Given the description of an element on the screen output the (x, y) to click on. 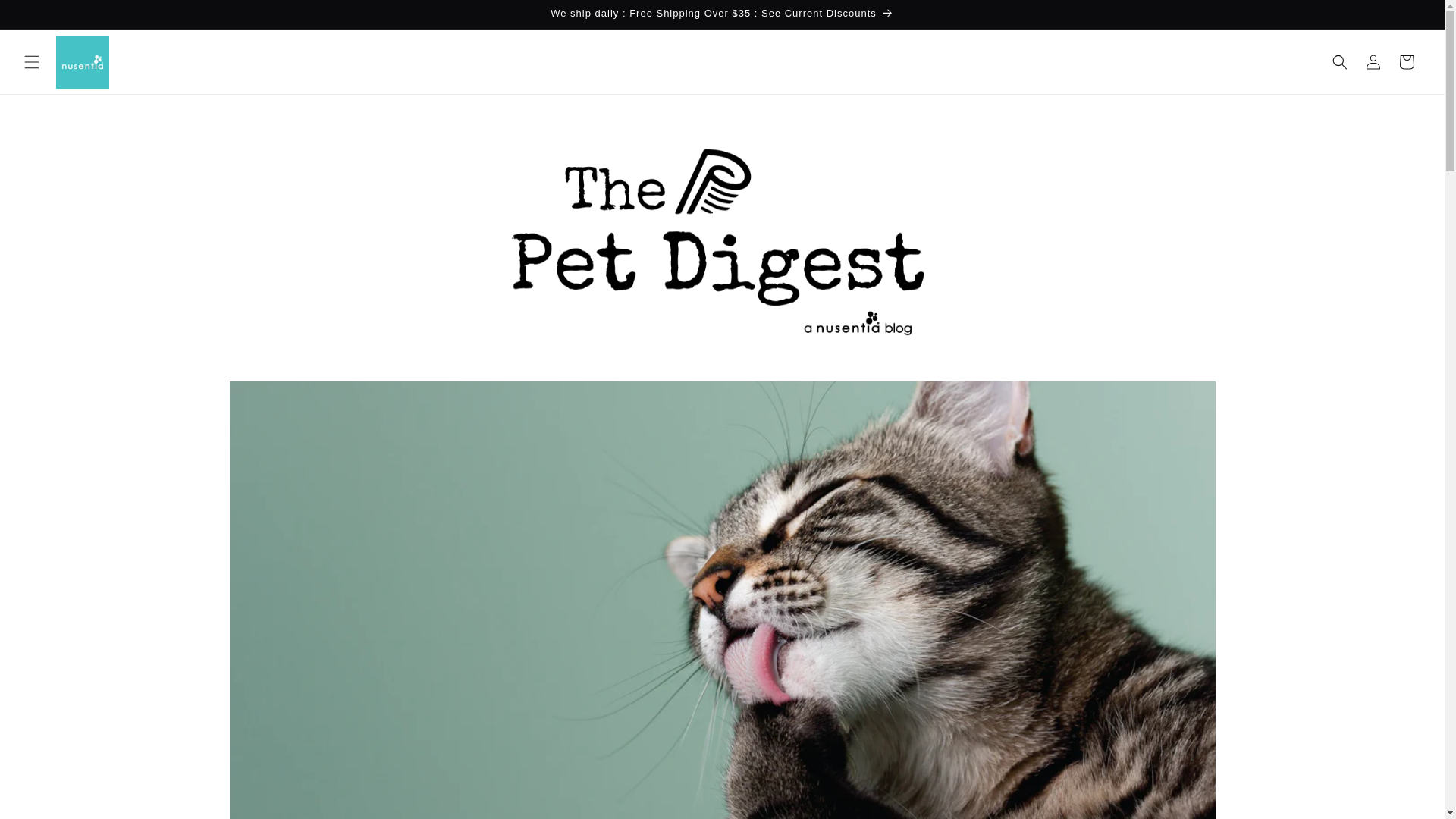
Skip to content (45, 17)
the pet digest nusentia blog (721, 369)
